Given the description of an element on the screen output the (x, y) to click on. 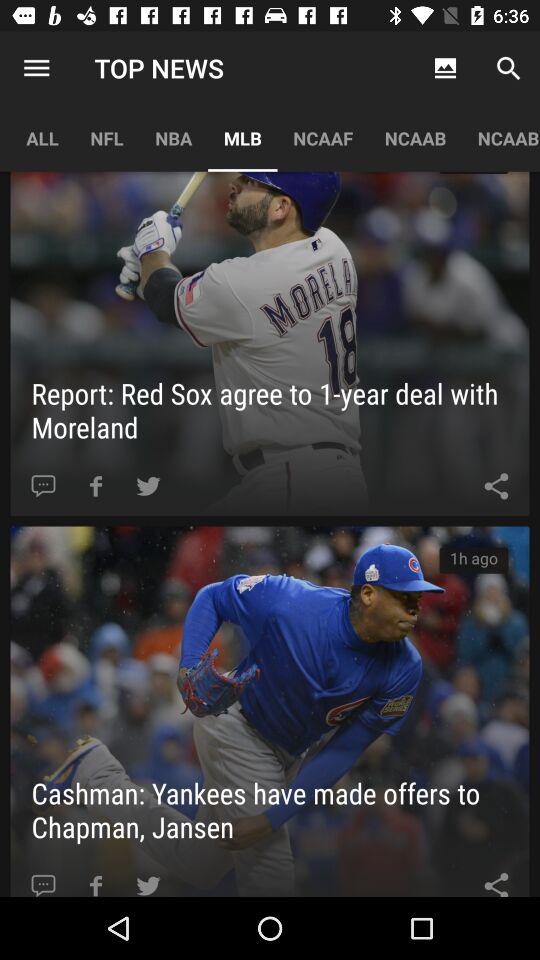
tap the item to the left of the nfl (36, 68)
